Given the description of an element on the screen output the (x, y) to click on. 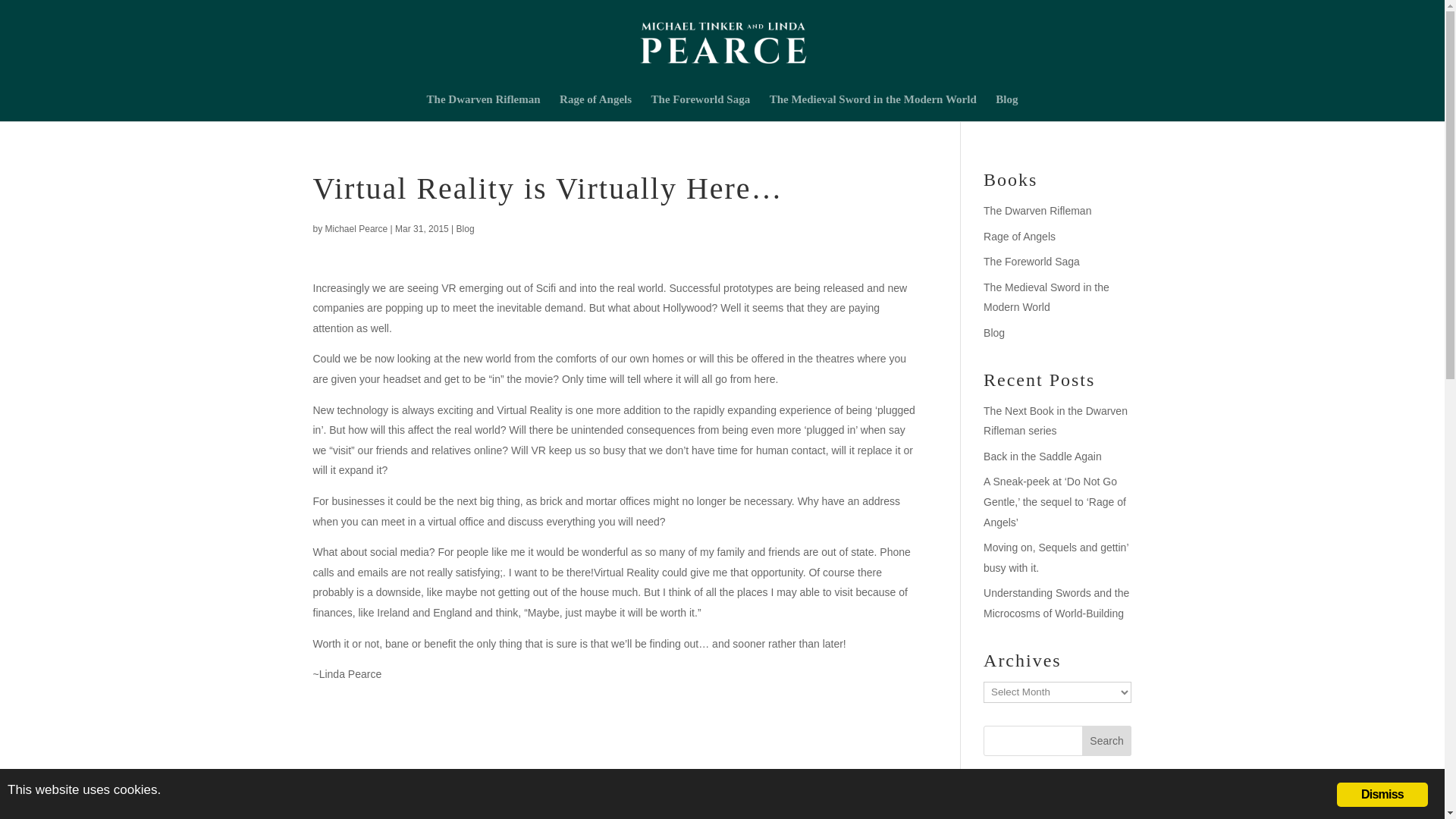
Back in the Saddle Again (1043, 456)
Blog (994, 332)
Understanding Swords and the Microcosms of World-Building (1056, 603)
The Medieval Sword in the Modern World (1046, 297)
The Foreworld Saga (700, 107)
Michael Pearce (356, 228)
Blog (465, 228)
The Foreworld Saga (1032, 261)
The Dwarven Rifleman (1037, 210)
Posts by Michael Pearce (356, 228)
The Dwarven Rifleman (483, 107)
The Next Book in the Dwarven Rifleman series (1055, 420)
Search (1106, 739)
The Medieval Sword in the Modern World (873, 107)
Rage of Angels (595, 107)
